Given the description of an element on the screen output the (x, y) to click on. 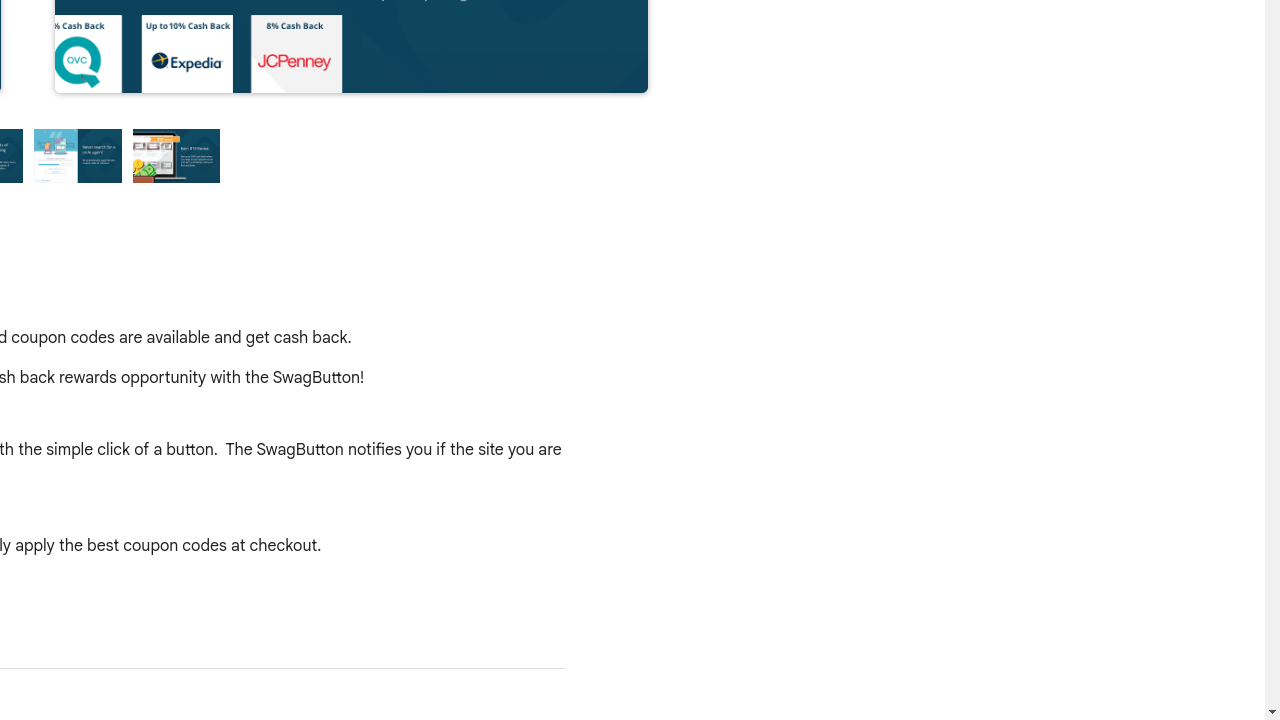
Preview slide 3 Element type: push-button (78, 156)
Preview slide 4 Element type: push-button (177, 156)
